Given the description of an element on the screen output the (x, y) to click on. 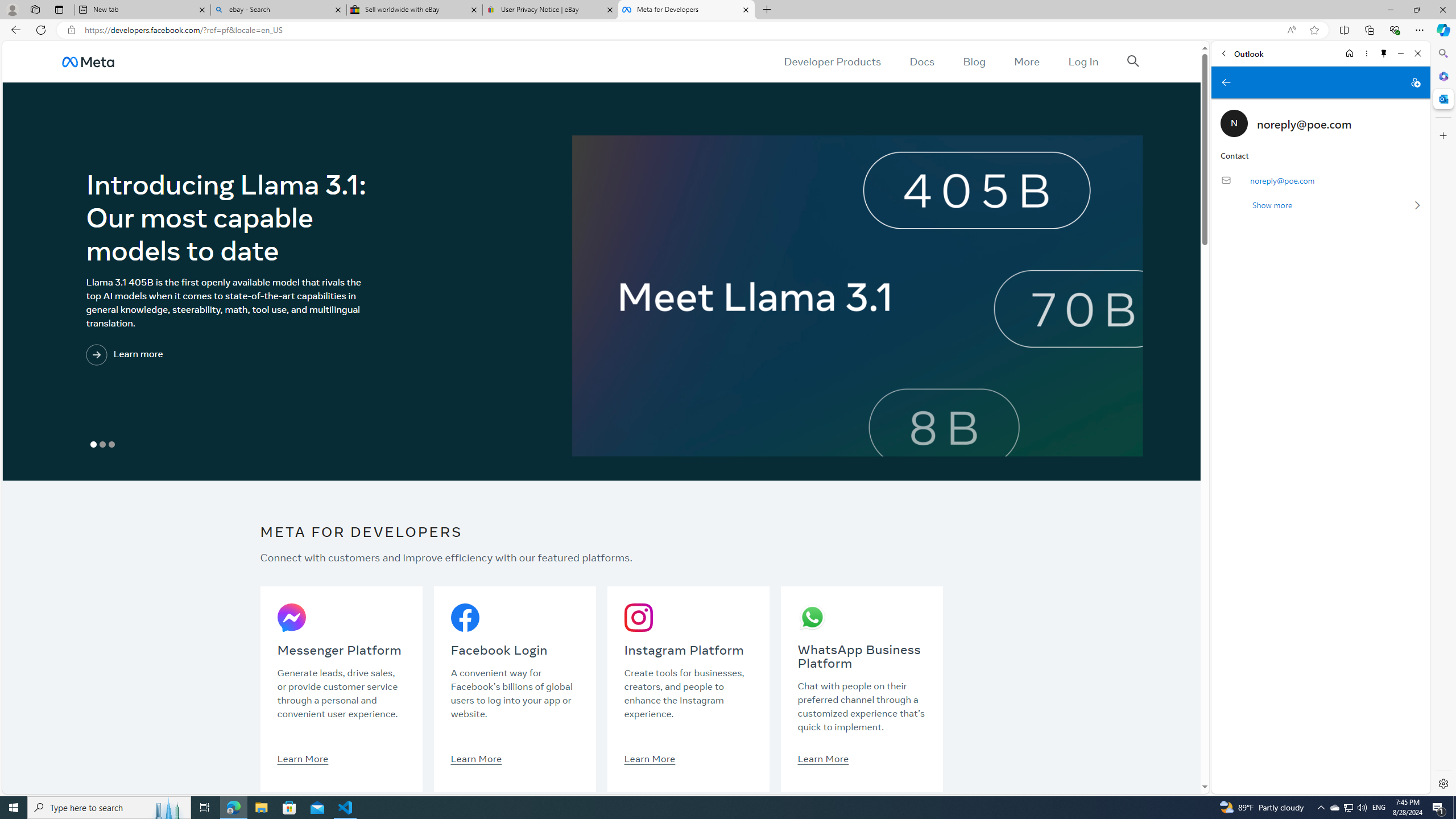
Show Slide 1 (93, 444)
Learn more (171, 355)
AutomationID: u_0_25_3H (88, 61)
Add to contacts (1414, 82)
Log In (1083, 61)
Email: noreply@poe.com (1320, 180)
